Given the description of an element on the screen output the (x, y) to click on. 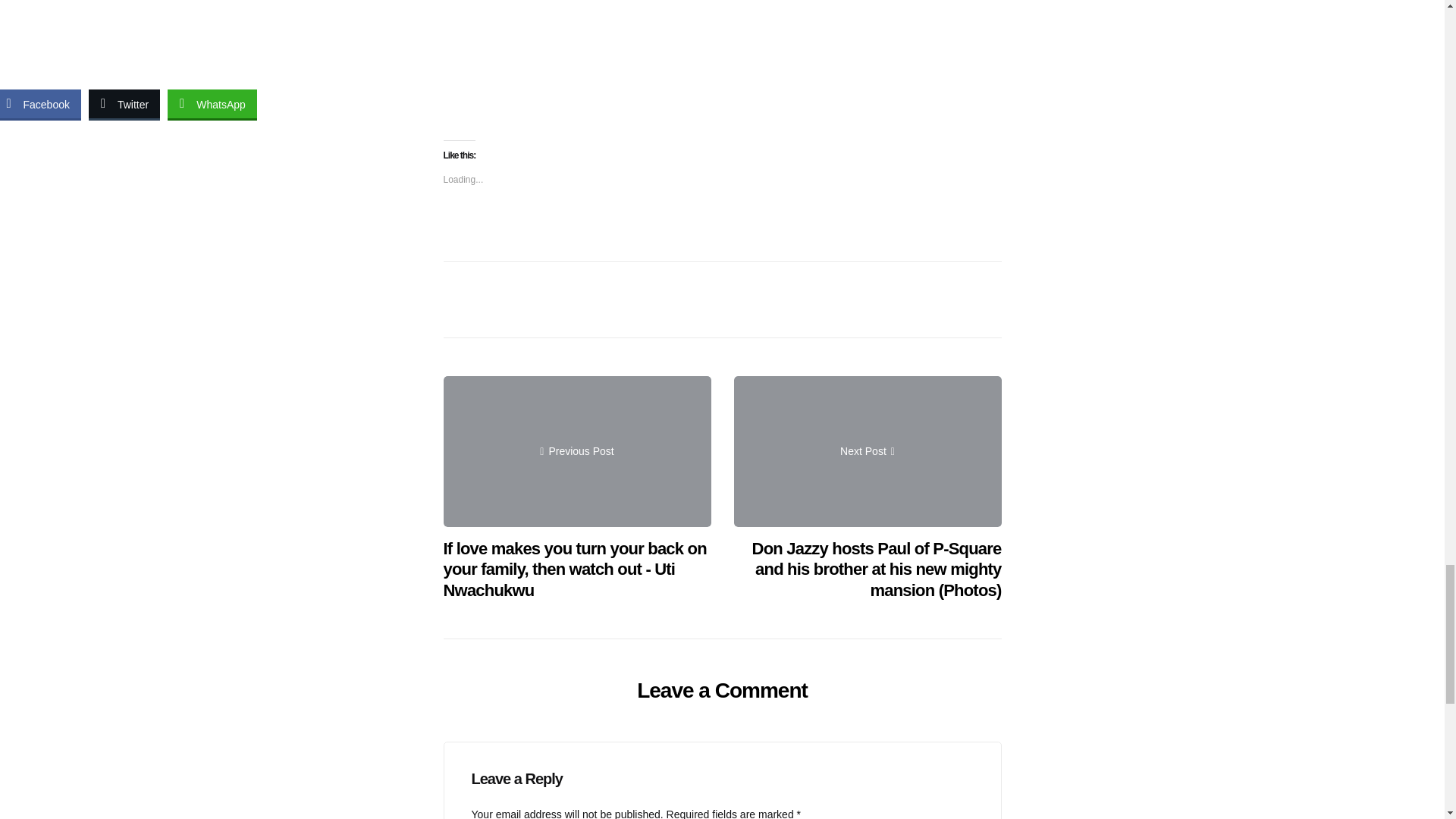
Advertisement (275, 29)
